Given the description of an element on the screen output the (x, y) to click on. 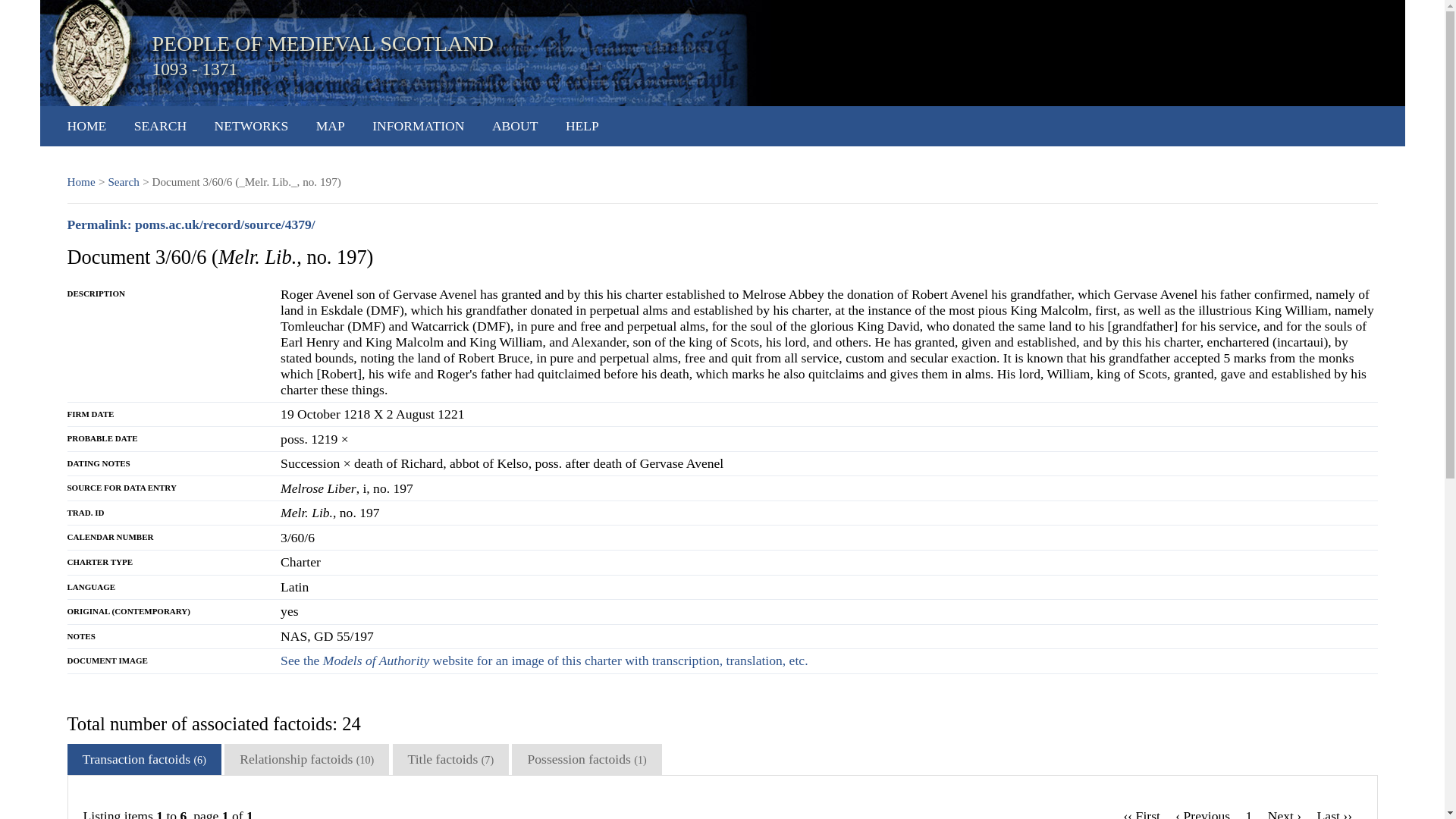
SEARCH (159, 125)
HOME (86, 125)
HELP (582, 125)
Search (122, 181)
MAP (330, 125)
ABOUT (515, 125)
Home (80, 181)
INFORMATION (418, 125)
NETWORKS (251, 125)
